Given the description of an element on the screen output the (x, y) to click on. 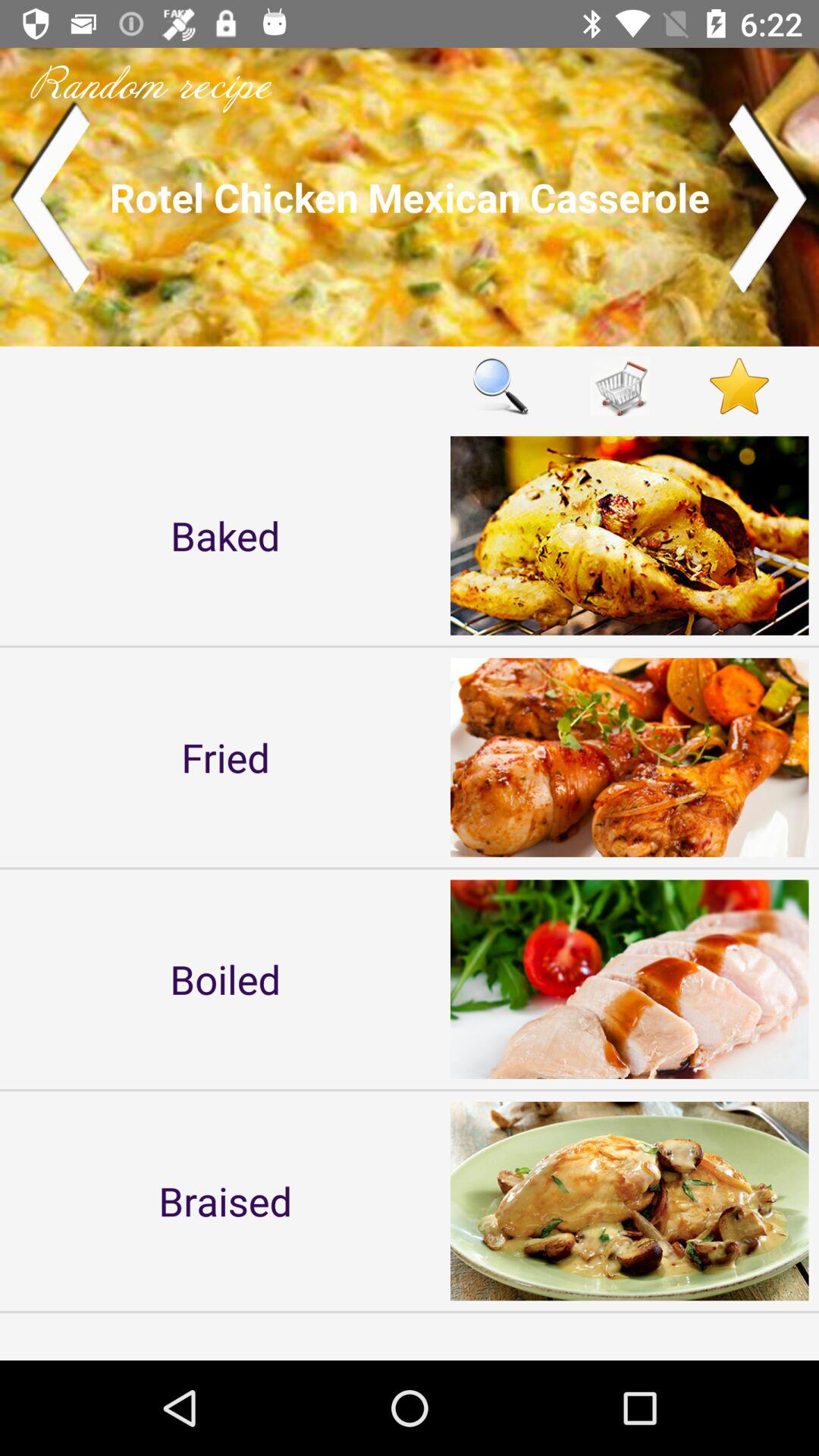
go to the previous recipe (49, 196)
